Given the description of an element on the screen output the (x, y) to click on. 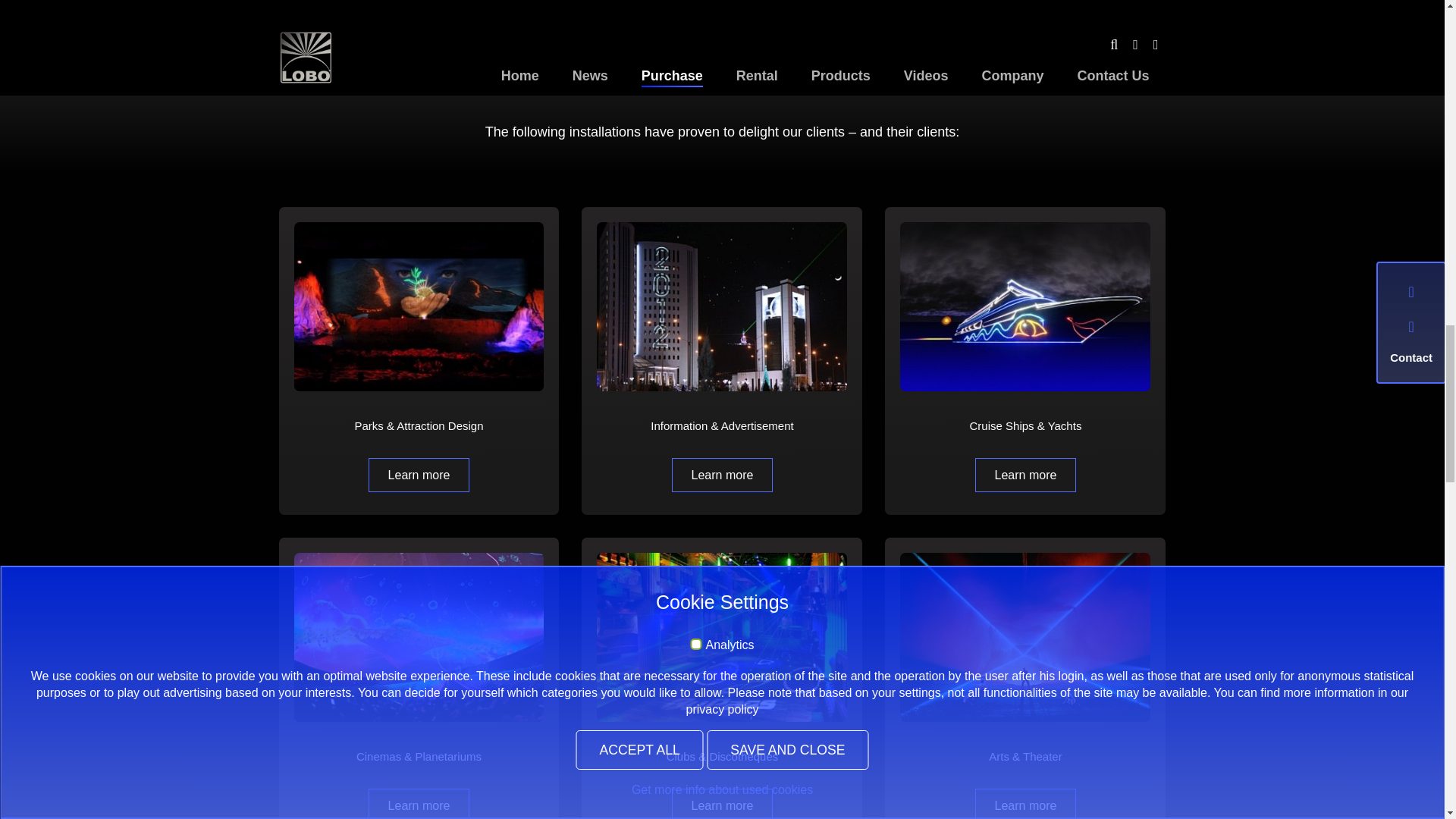
tile parks attractions (419, 306)
tile clubs (721, 636)
tile cruise ships (1024, 306)
tile arts theater (1024, 636)
tile information (721, 306)
tile planetariums cinema (419, 636)
